Given the description of an element on the screen output the (x, y) to click on. 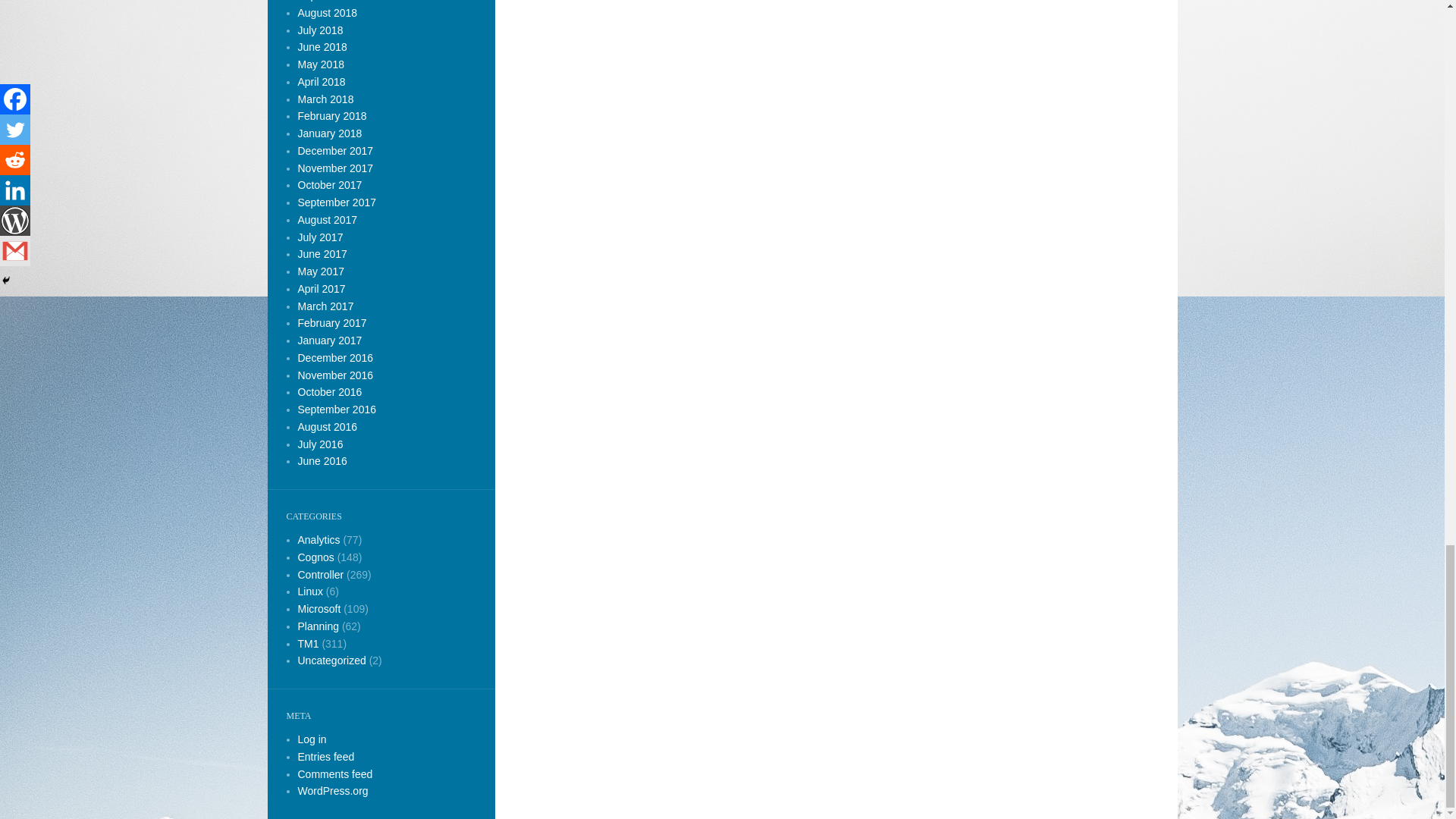
Information about Cognos Controller (320, 573)
IBM Cognos Business Intelligence  (318, 539)
Information about Cognos BI (315, 557)
Information about Cognos TM1 (307, 644)
Information about Cognos Planning (318, 625)
